Given the description of an element on the screen output the (x, y) to click on. 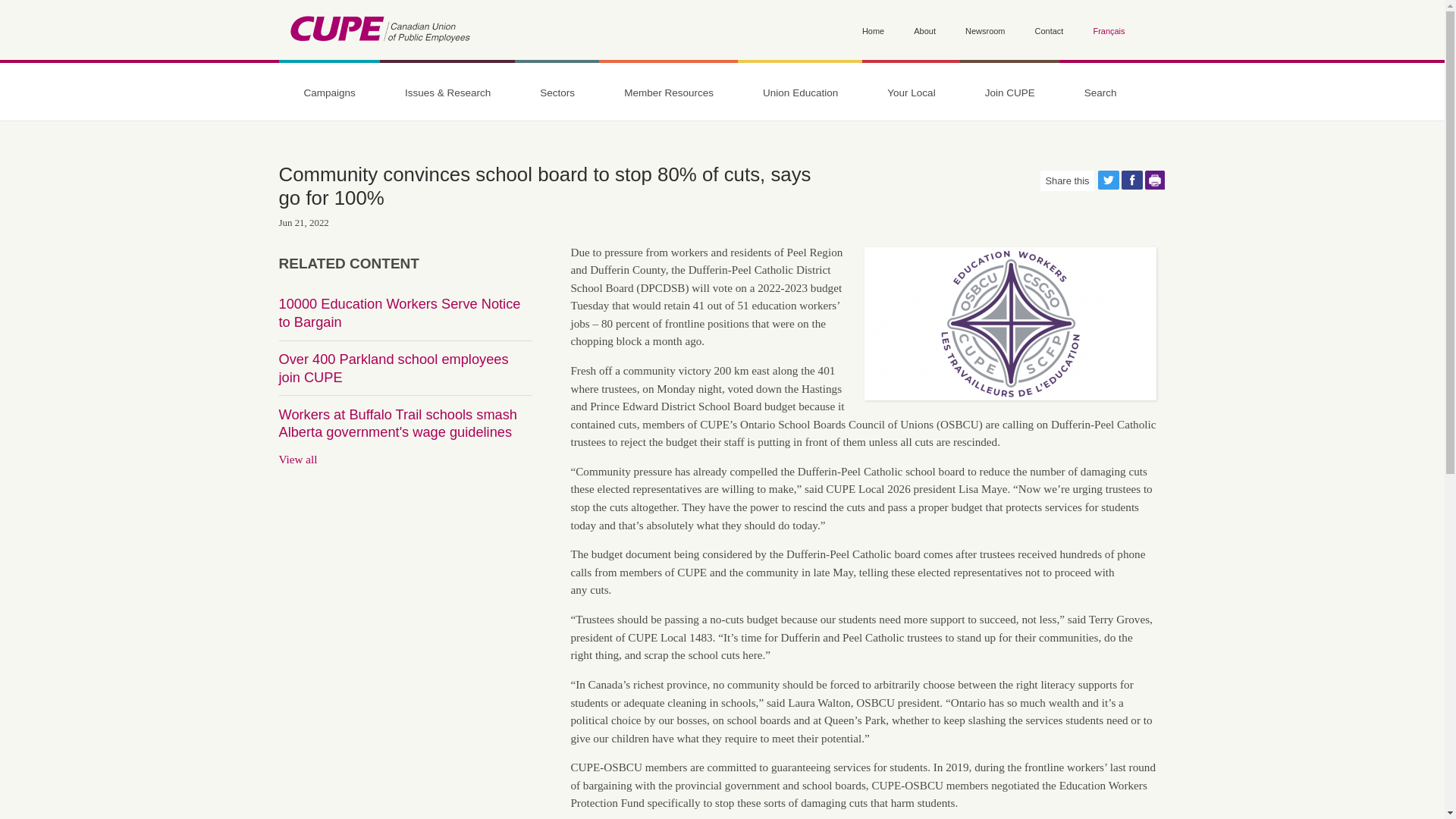
View all (298, 459)
Search (300, 201)
Your Local (910, 92)
Share this page on Facebook (1131, 179)
Home (872, 31)
Member Resources (667, 92)
Search (1100, 92)
Sectors (557, 92)
Newsroom (984, 31)
